Given the description of an element on the screen output the (x, y) to click on. 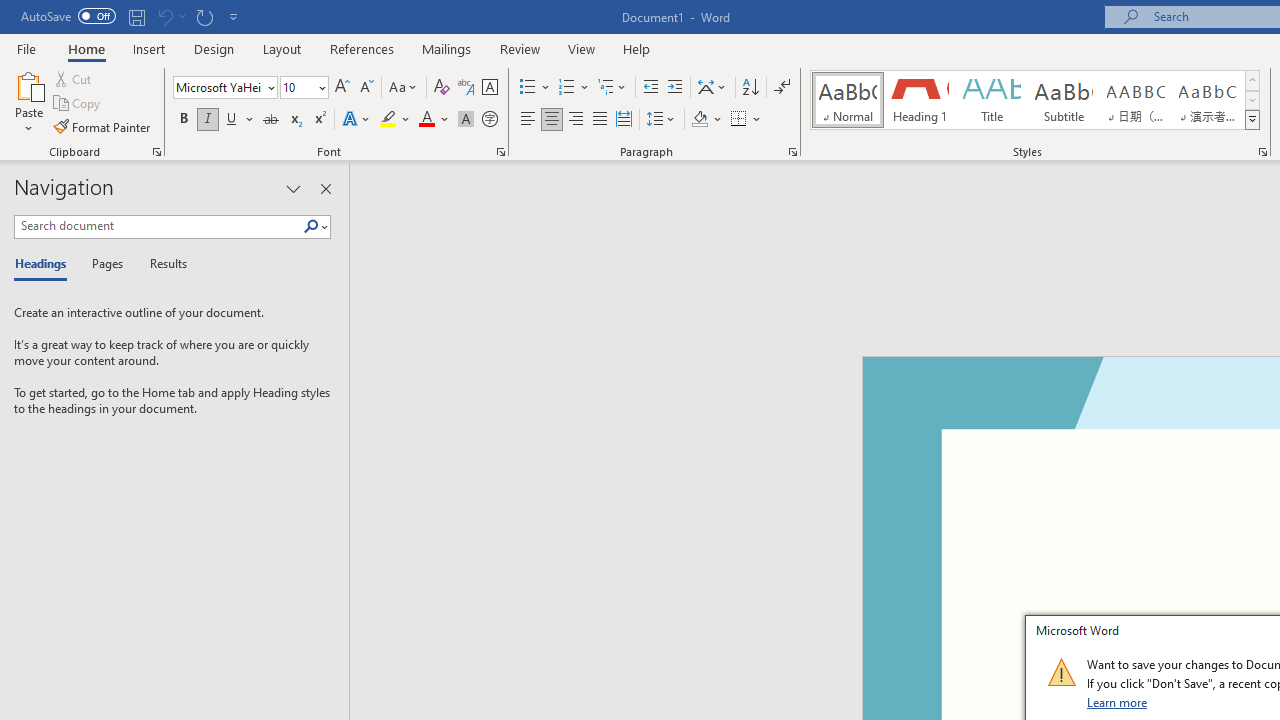
Search document (157, 226)
Enclose Characters... (489, 119)
Bold (183, 119)
Styles... (1262, 151)
Strikethrough (270, 119)
Title (991, 100)
Center (552, 119)
Subscript (294, 119)
Font... (500, 151)
